Given the description of an element on the screen output the (x, y) to click on. 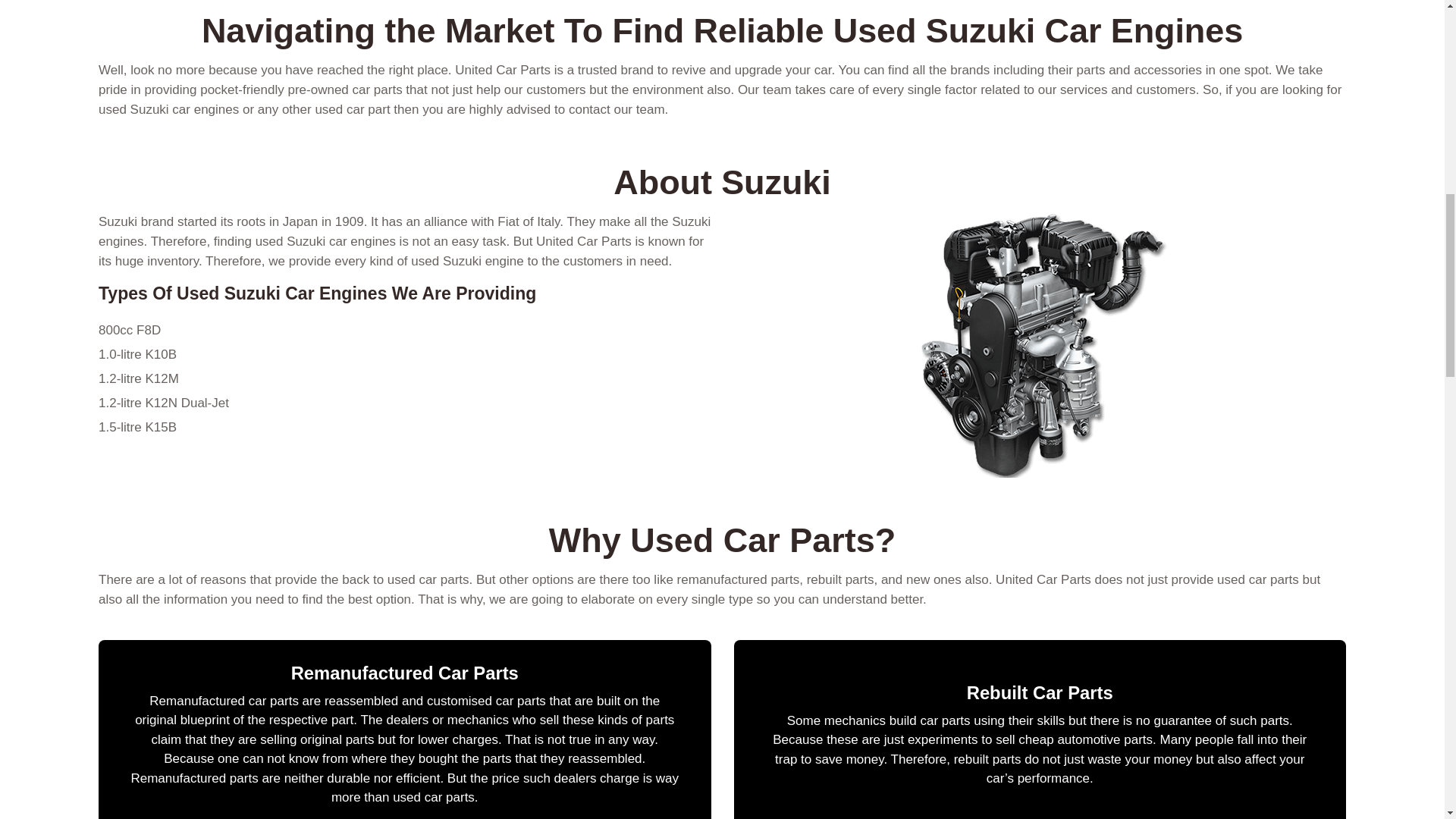
Suzuki-Car-Engines (1040, 344)
